Given the description of an element on the screen output the (x, y) to click on. 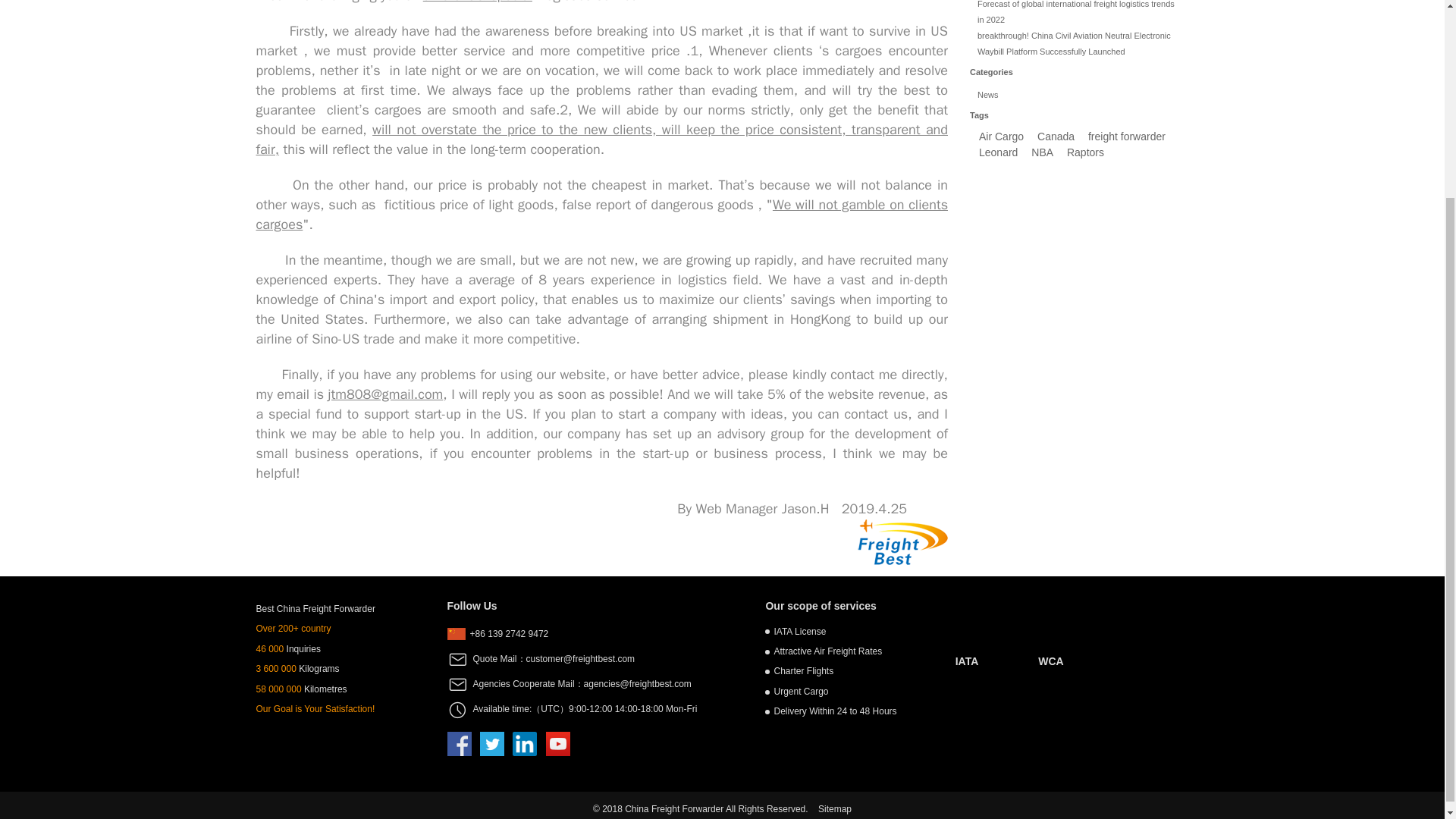
NBA (1041, 152)
freightbest logo (902, 542)
freight forwarder (1126, 136)
Sitemap (834, 808)
Air Cargo (1000, 136)
News (987, 94)
Leonard (997, 152)
Canada (1055, 136)
